Given the description of an element on the screen output the (x, y) to click on. 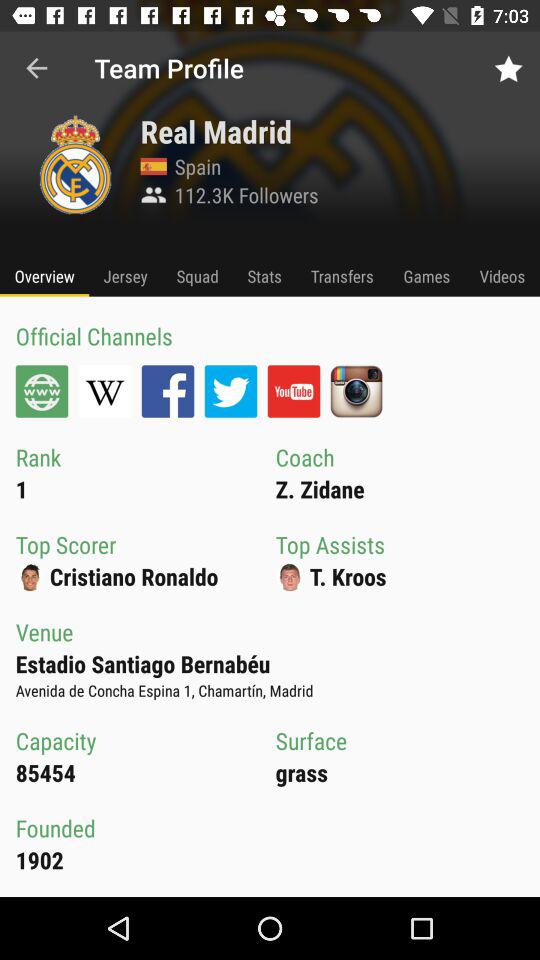
select icon next to the squad item (264, 276)
